Given the description of an element on the screen output the (x, y) to click on. 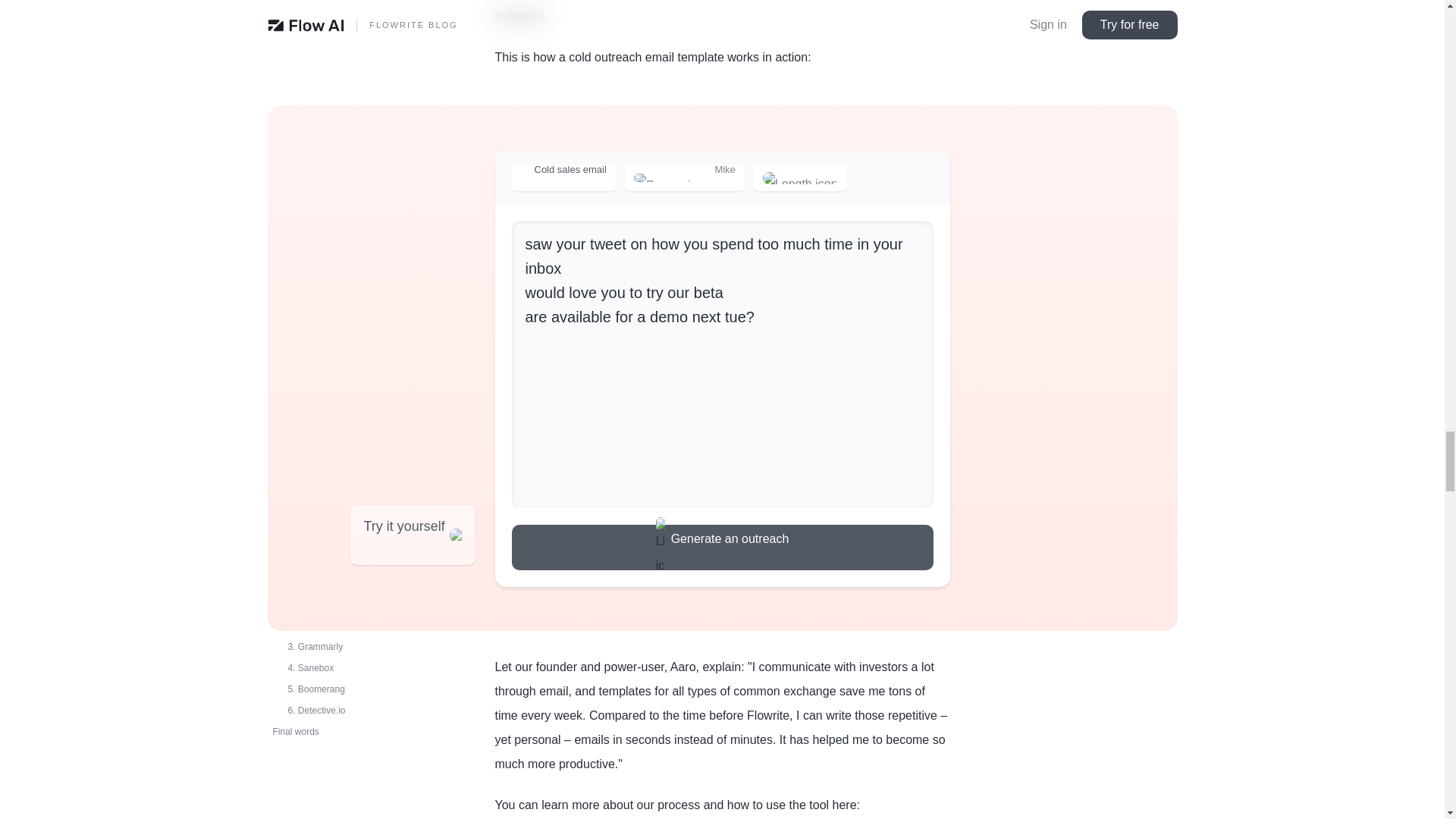
Cold sales email (562, 177)
